Given the description of an element on the screen output the (x, y) to click on. 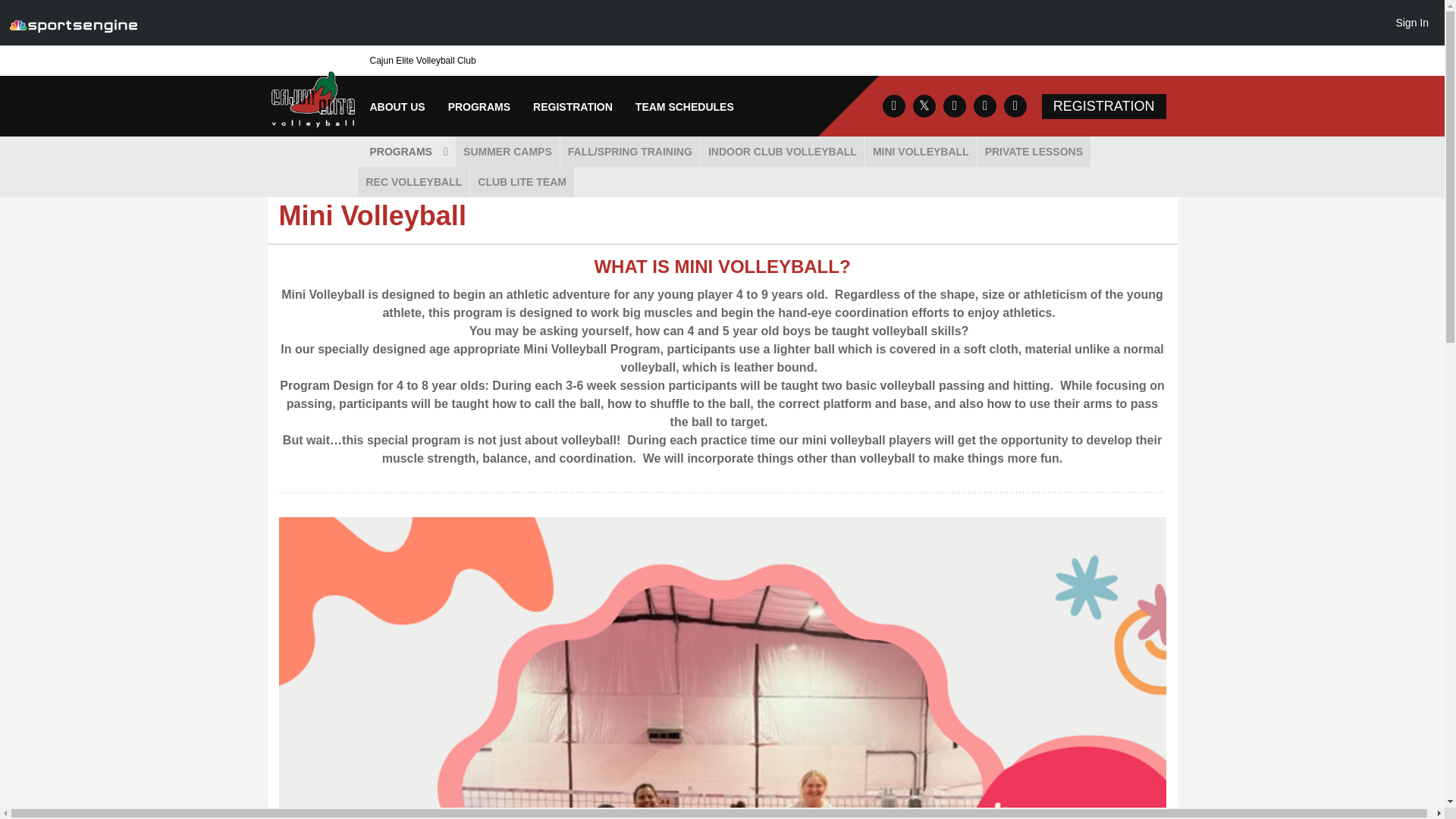
INDOOR CLUB VOLLEYBALL (782, 151)
TRYOUTS (394, 168)
PRIVATE LESSONS (1033, 151)
Sign In (1411, 22)
Android app URL (1015, 106)
SportsEngine (73, 22)
MORE (462, 168)
ABOUT US (396, 106)
click to go to 'Private Lessons' (1033, 151)
REC VOLLEYBALL (413, 182)
PROGRAMS (406, 151)
MINI VOLLEYBALL (920, 151)
iOS app URL (984, 106)
SUMMER CAMPS (507, 151)
click to go to 'Tryouts' (394, 168)
